Given the description of an element on the screen output the (x, y) to click on. 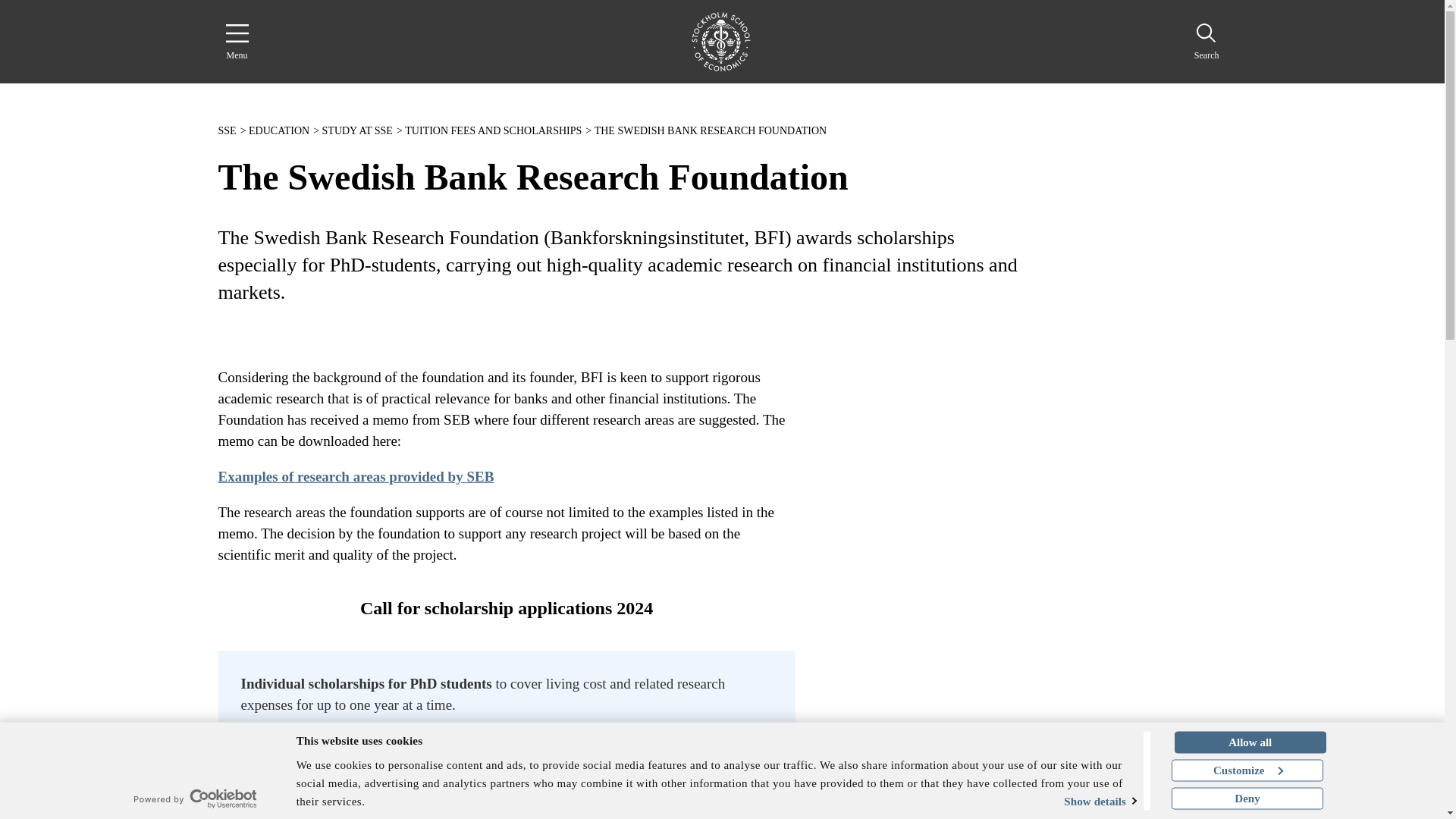
Show details (1078, 800)
